Given the description of an element on the screen output the (x, y) to click on. 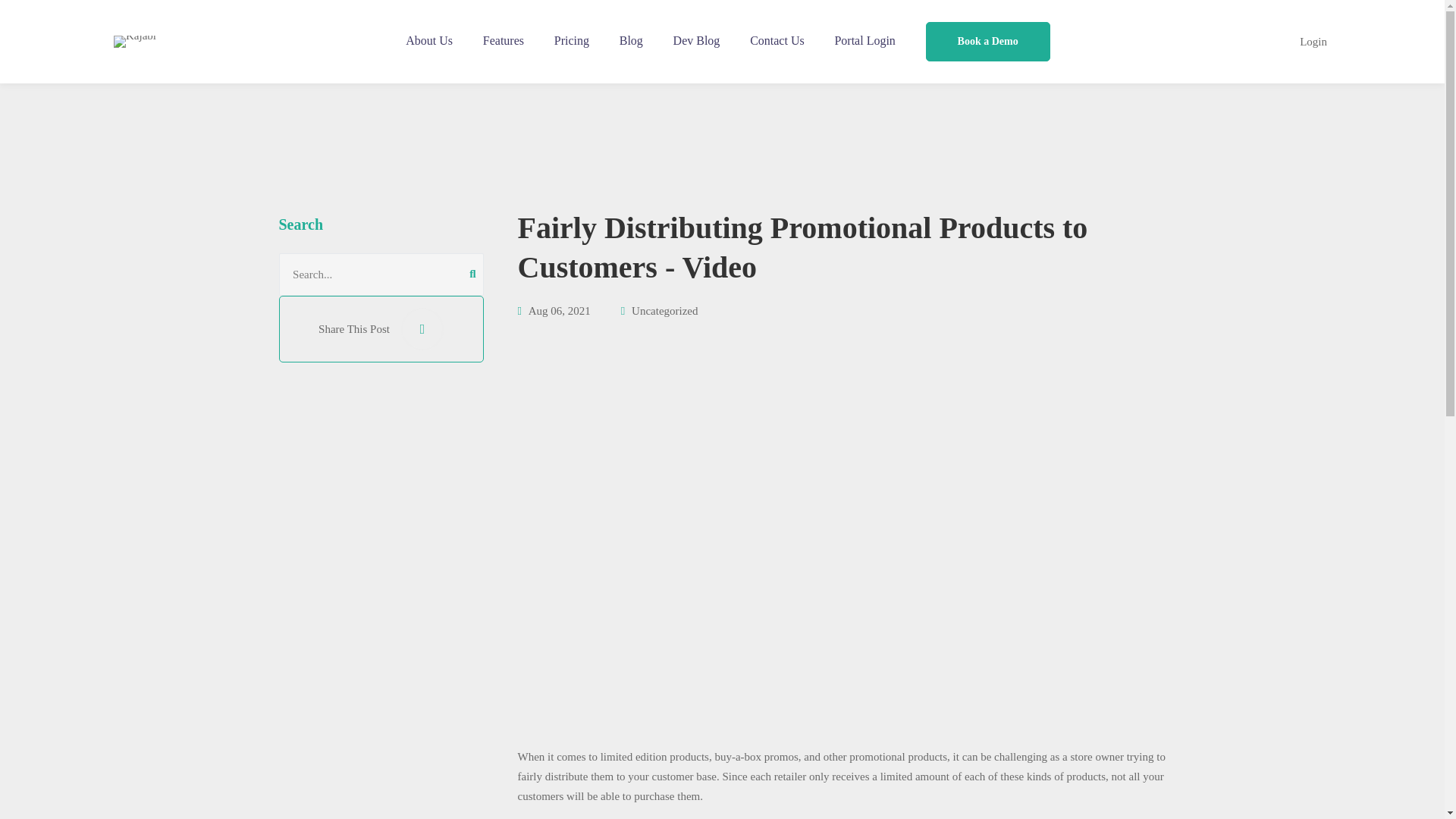
Book a Demo (988, 41)
About Us (428, 40)
Dev Blog (696, 40)
Book a Demo (987, 41)
Contact Us (777, 40)
Pricing (571, 40)
Features (502, 40)
Portal Login (864, 40)
Login (1313, 41)
